Given the description of an element on the screen output the (x, y) to click on. 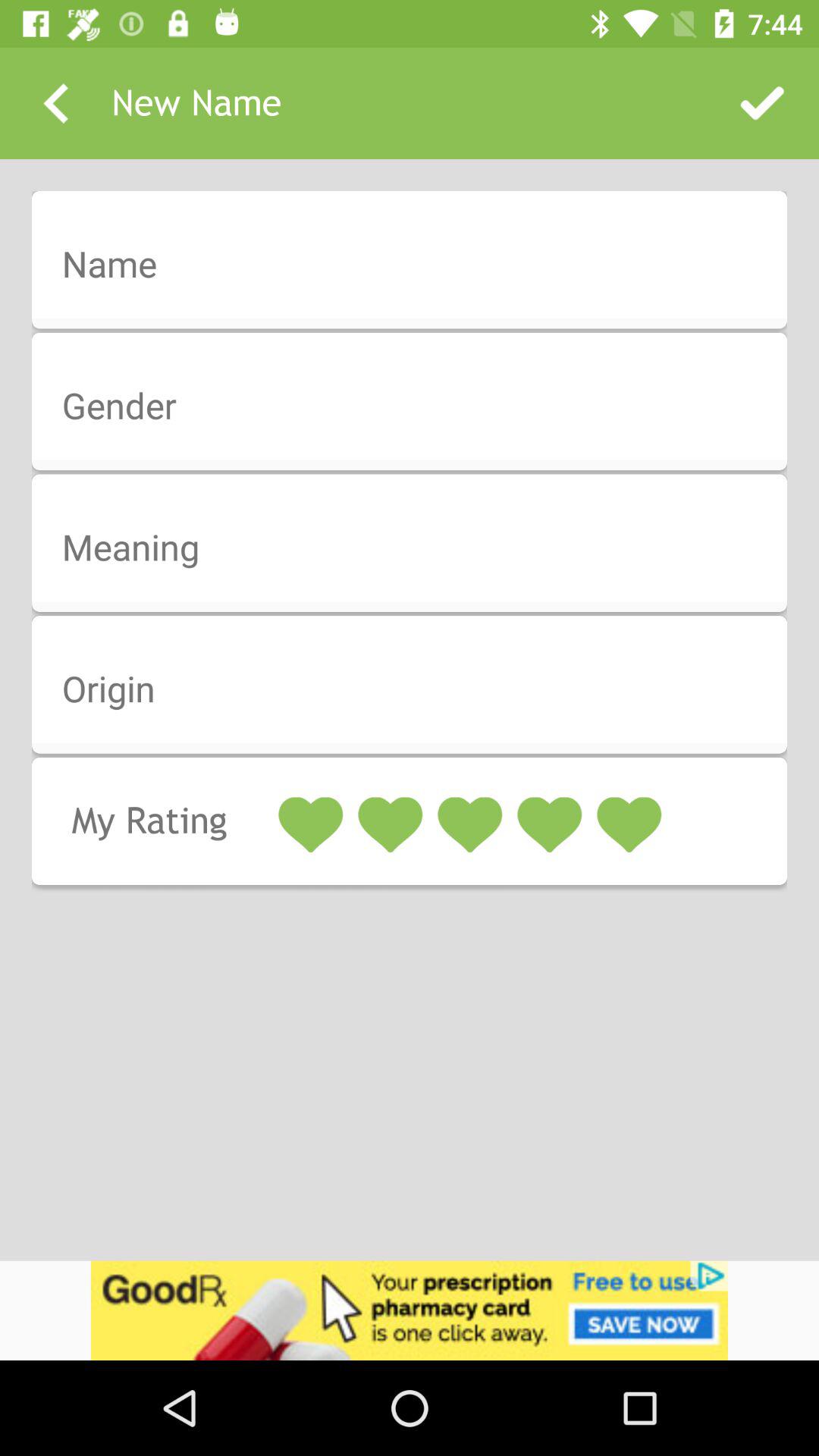
input meaning (419, 548)
